Given the description of an element on the screen output the (x, y) to click on. 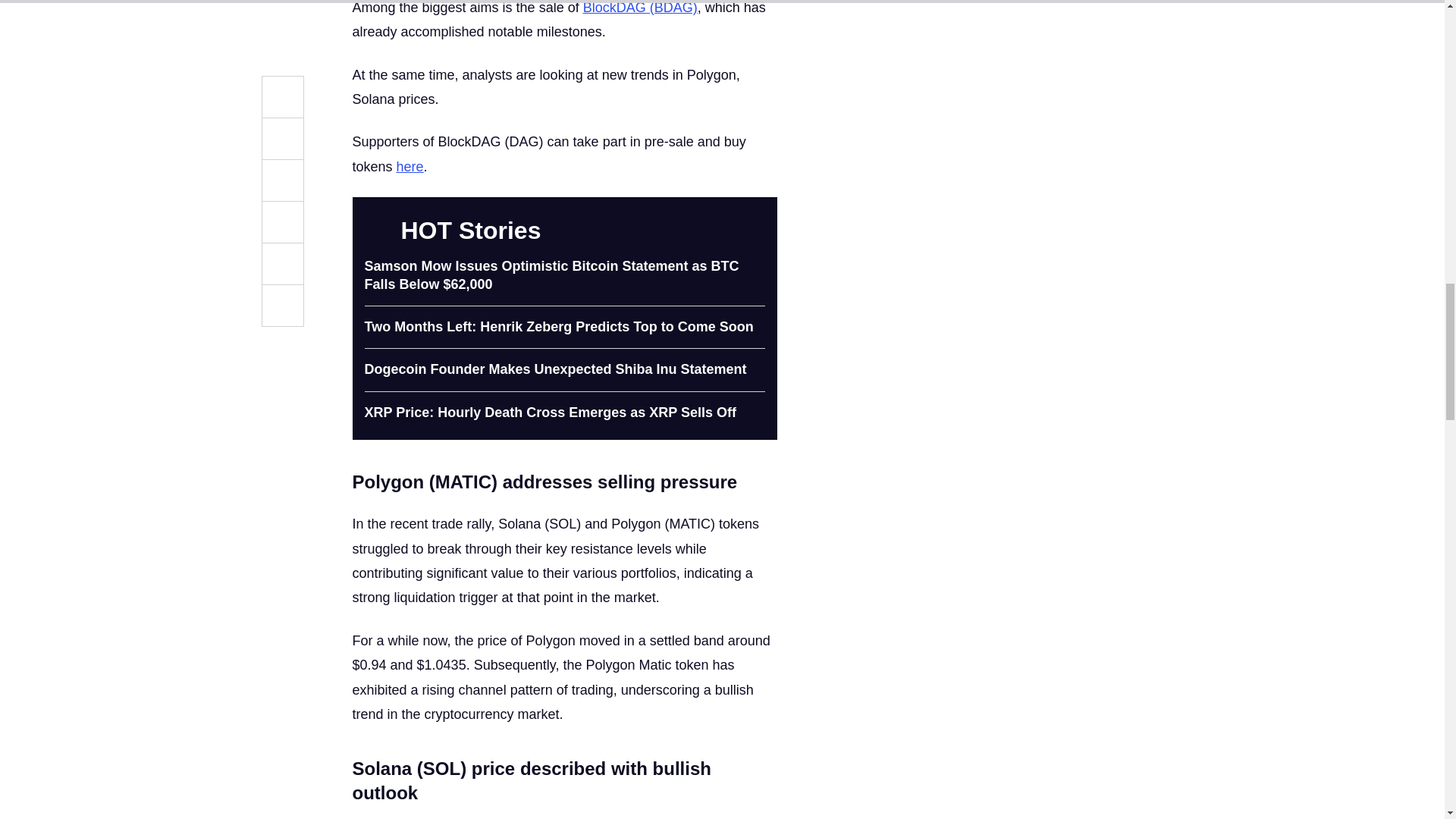
Go to Hot stories (754, 230)
